Given the description of an element on the screen output the (x, y) to click on. 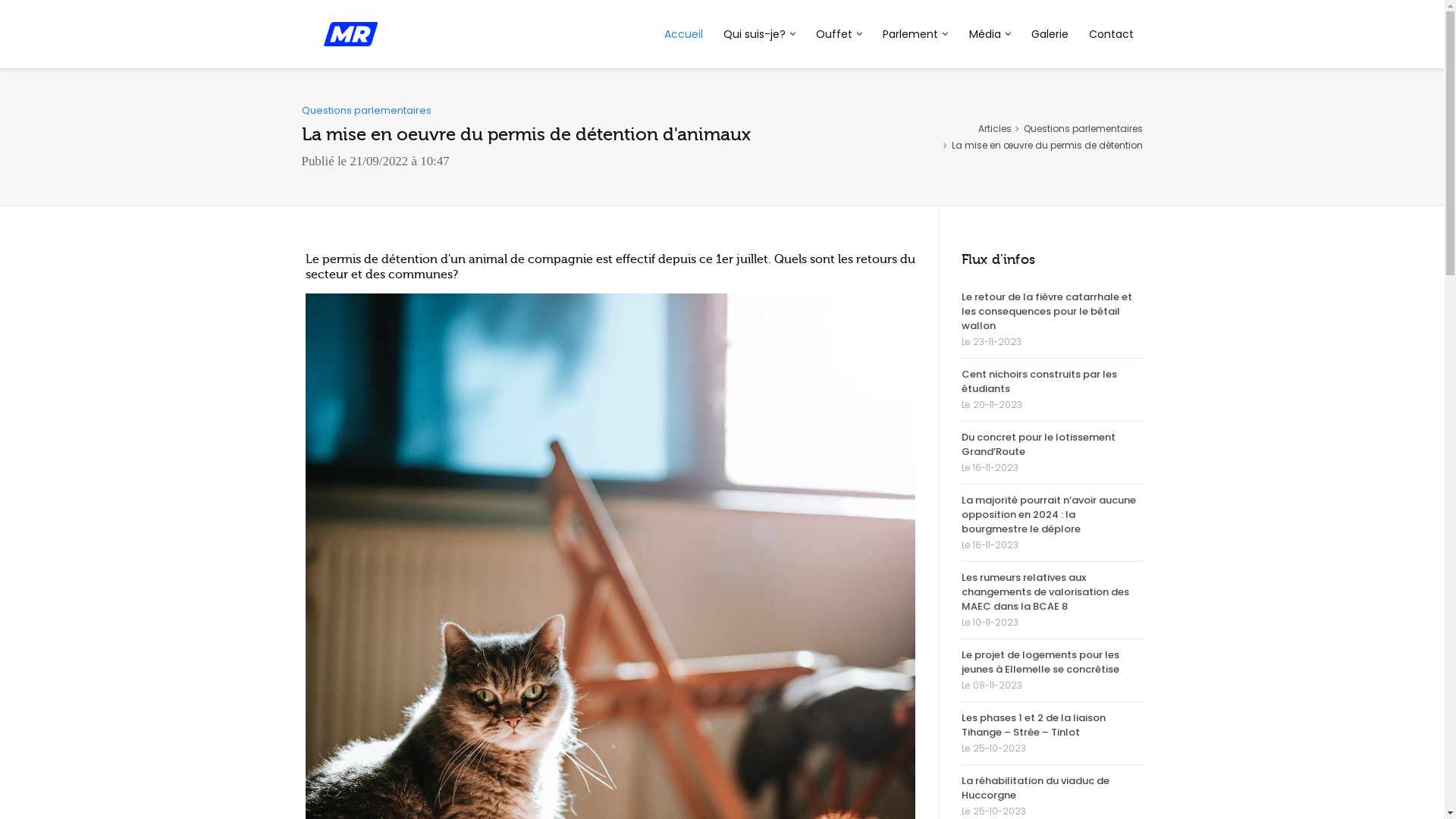
Parlement Element type: text (915, 34)
Contact Element type: text (1110, 34)
Accueil Element type: text (683, 34)
Questions parlementaires Element type: text (1082, 128)
Qui suis-je? Element type: text (758, 34)
Ouffet Element type: text (839, 34)
Galerie Element type: text (1049, 34)
Articles Element type: text (994, 128)
